Given the description of an element on the screen output the (x, y) to click on. 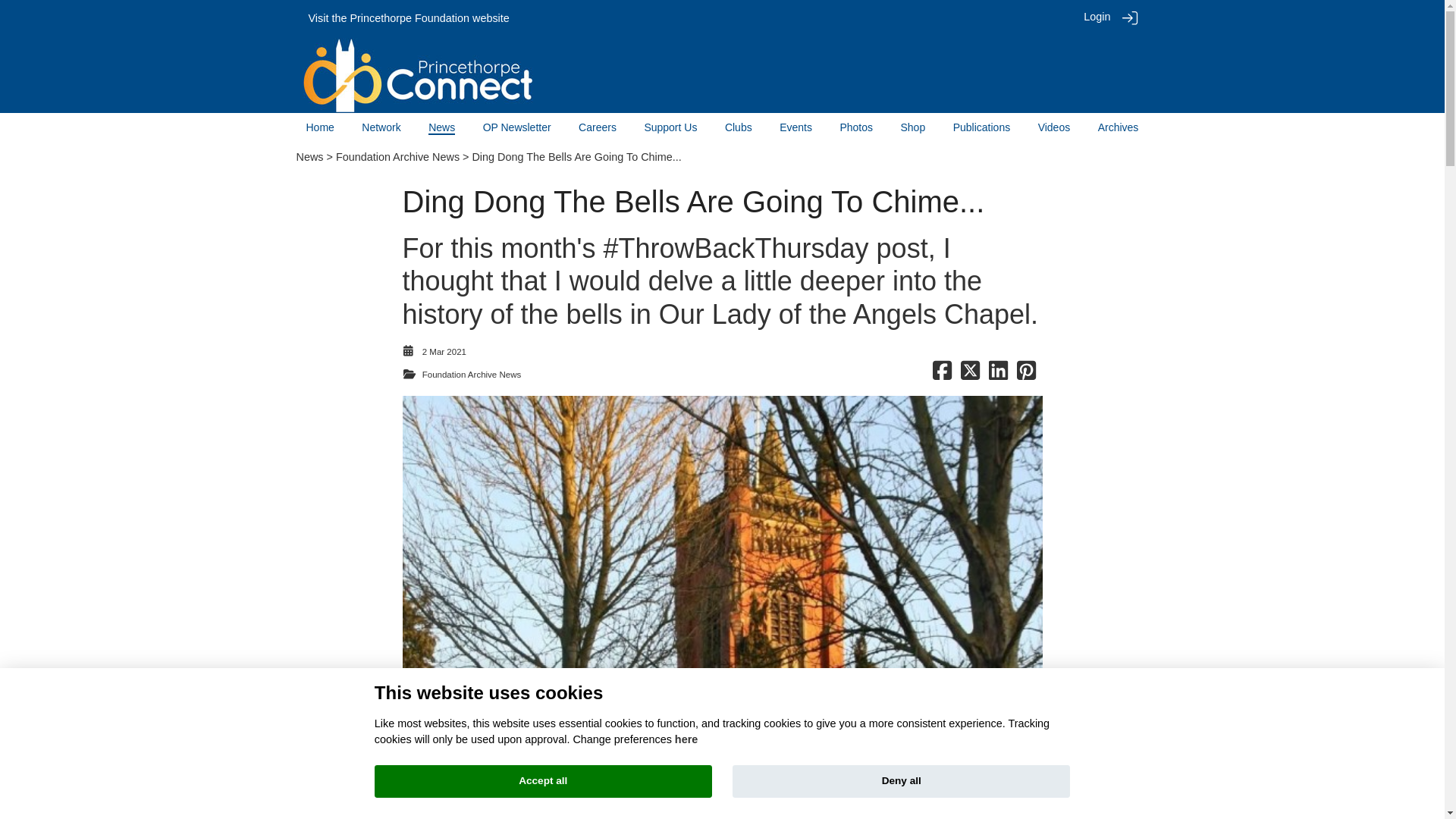
Events (795, 127)
Support Us (670, 127)
Share on Pinterest (1025, 374)
OP Newsletter (517, 127)
Visit the Princethorpe Foundation website (407, 18)
News (441, 128)
Videos (1054, 127)
Foundation Archive News (398, 156)
Archives (1117, 127)
Network (380, 127)
Home (319, 127)
Share on Facebook (942, 374)
Clubs (738, 127)
Share on Twitter (969, 374)
News (309, 156)
